Given the description of an element on the screen output the (x, y) to click on. 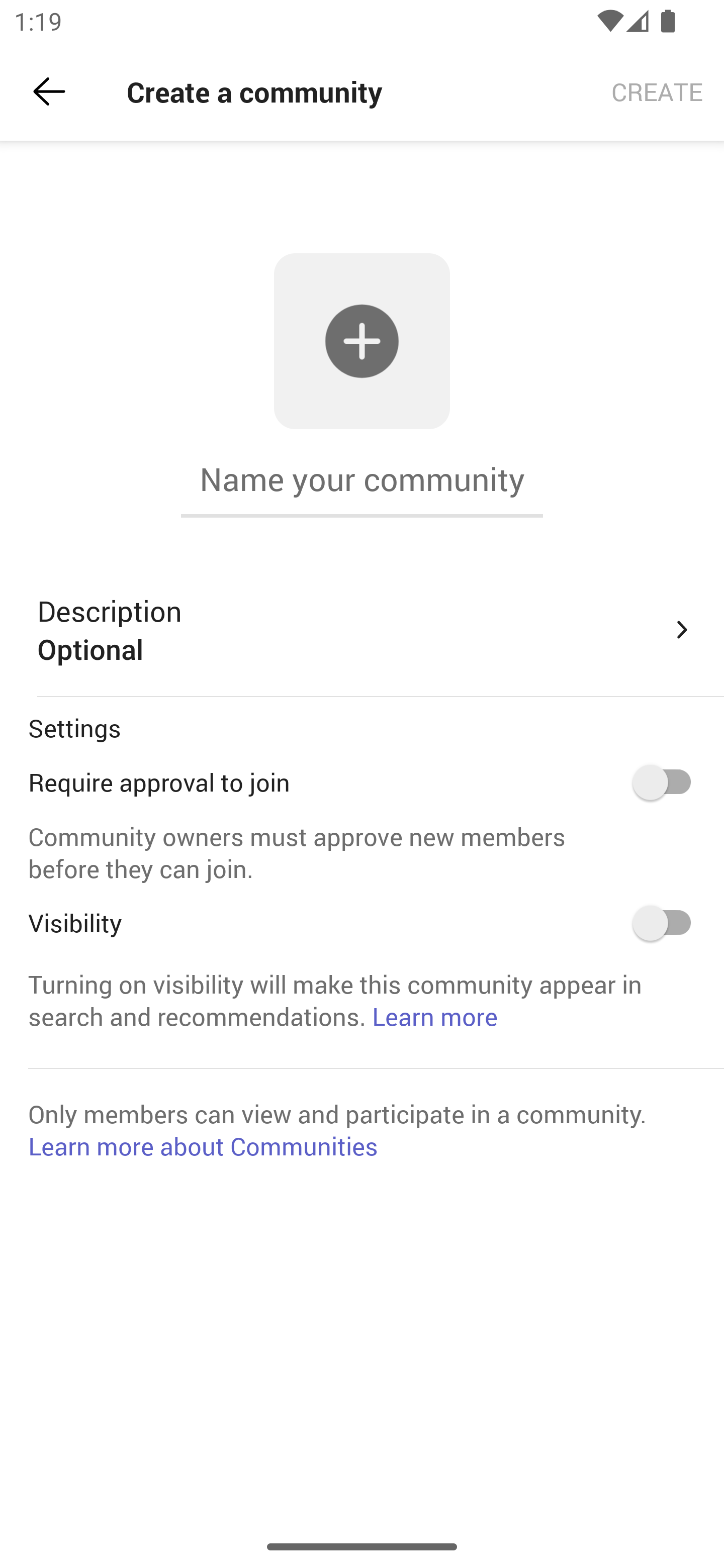
Back (49, 91)
CREATE (657, 90)
Add community image (361, 341)
Name your community (362, 478)
Description Optional (366, 629)
Require approval to join (668, 781)
Visibility (668, 922)
